Given the description of an element on the screen output the (x, y) to click on. 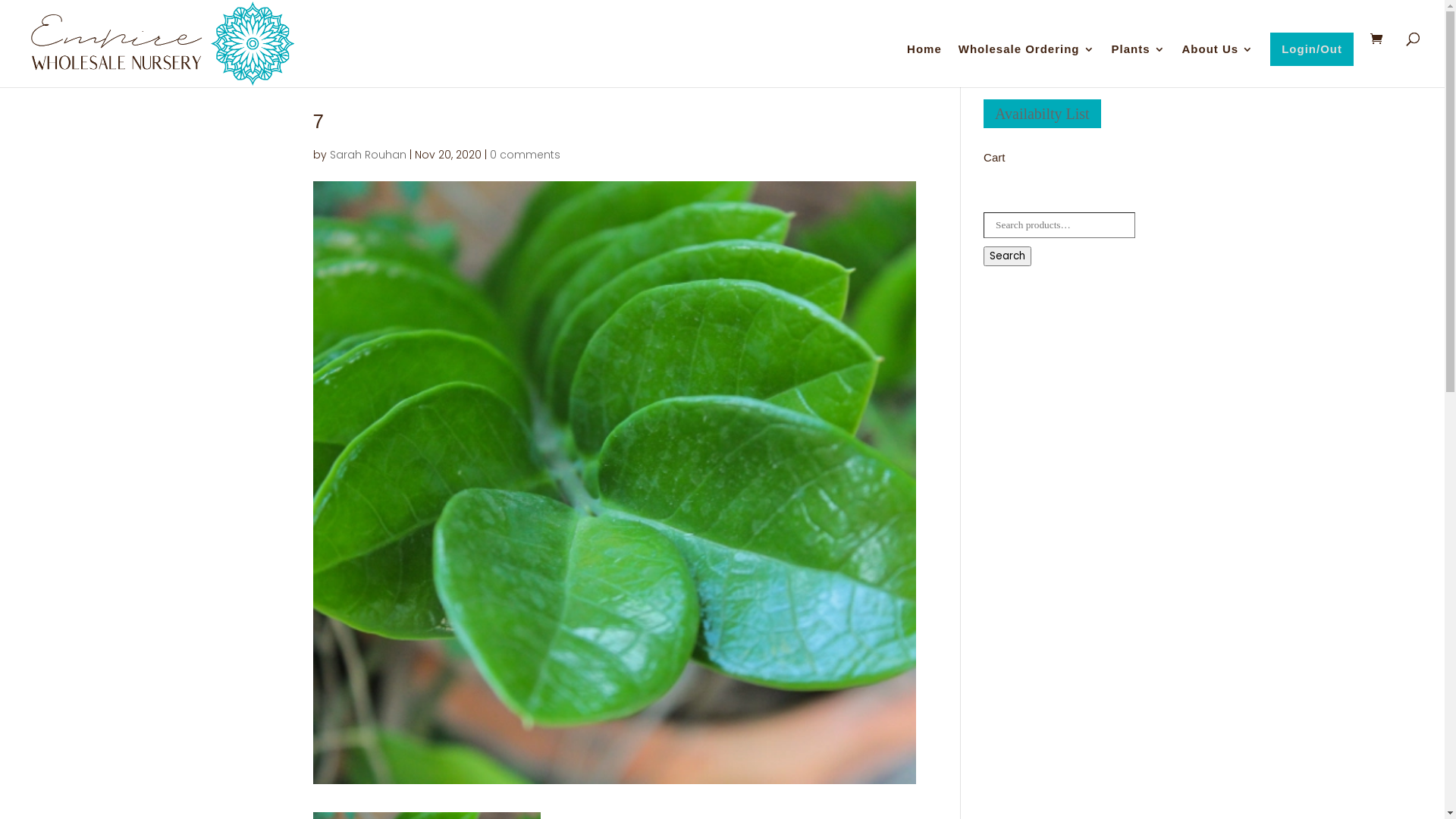
About Us Element type: text (1218, 65)
Plants Element type: text (1138, 65)
Sarah Rouhan Element type: text (367, 154)
0 comments Element type: text (524, 154)
Search Element type: text (1007, 256)
Availabilty List Element type: text (1042, 113)
Home Element type: text (923, 65)
Wholesale Ordering Element type: text (1026, 65)
Login/Out Element type: text (1311, 48)
